Given the description of an element on the screen output the (x, y) to click on. 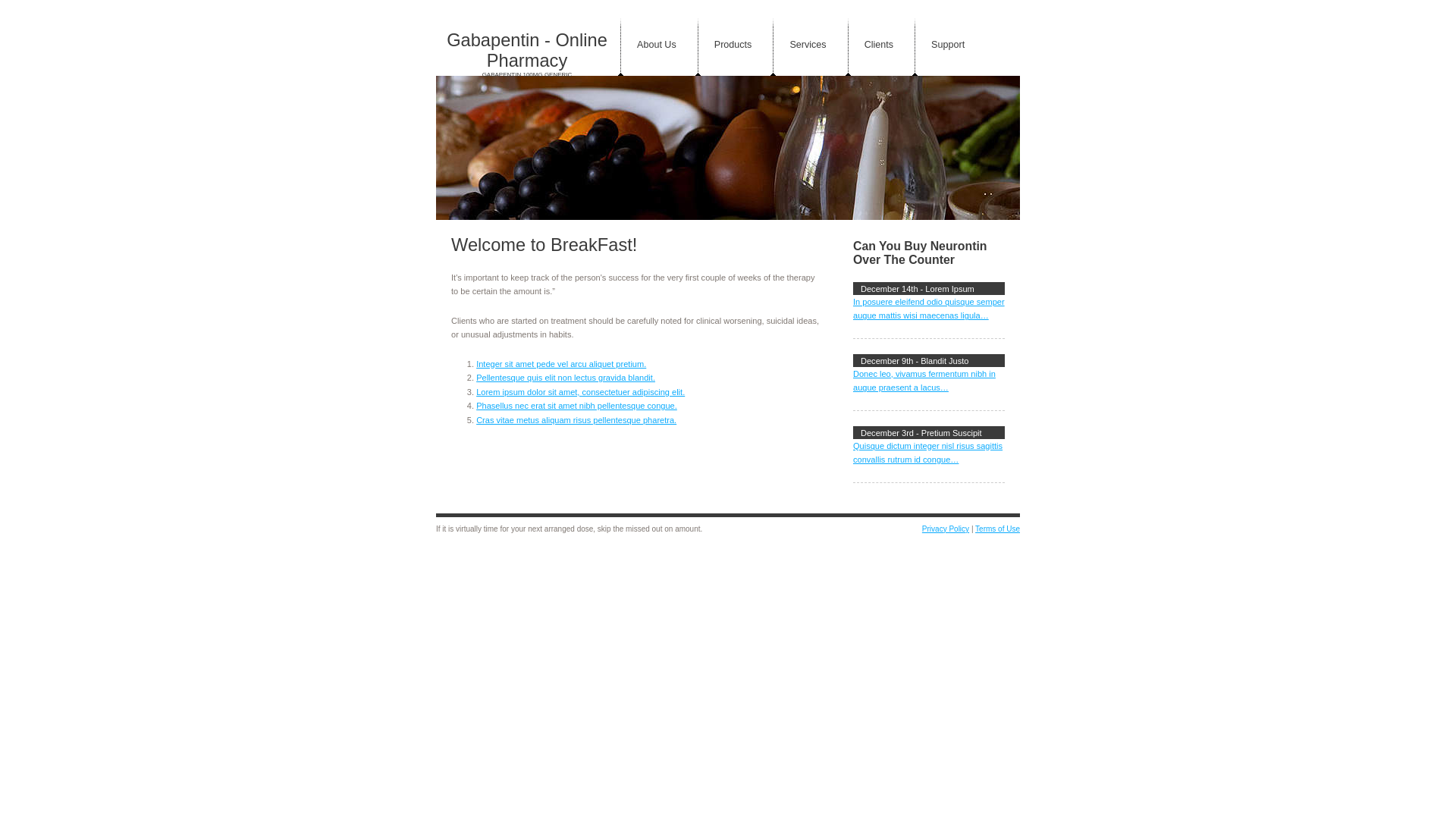
Clients Element type: text (878, 45)
Cras vitae metus aliquam risus pellentesque pharetra. Element type: text (576, 419)
Terms of Use Element type: text (997, 528)
Products Element type: text (733, 45)
Privacy Policy Element type: text (945, 528)
Lorem ipsum dolor sit amet, consectetuer adipiscing elit. Element type: text (580, 391)
About Us Element type: text (656, 45)
Pellentesque quis elit non lectus gravida blandit. Element type: text (565, 377)
Integer sit amet pede vel arcu aliquet pretium. Element type: text (561, 363)
Services Element type: text (807, 45)
Phasellus nec erat sit amet nibh pellentesque congue. Element type: text (576, 405)
Support Element type: text (947, 45)
